Given the description of an element on the screen output the (x, y) to click on. 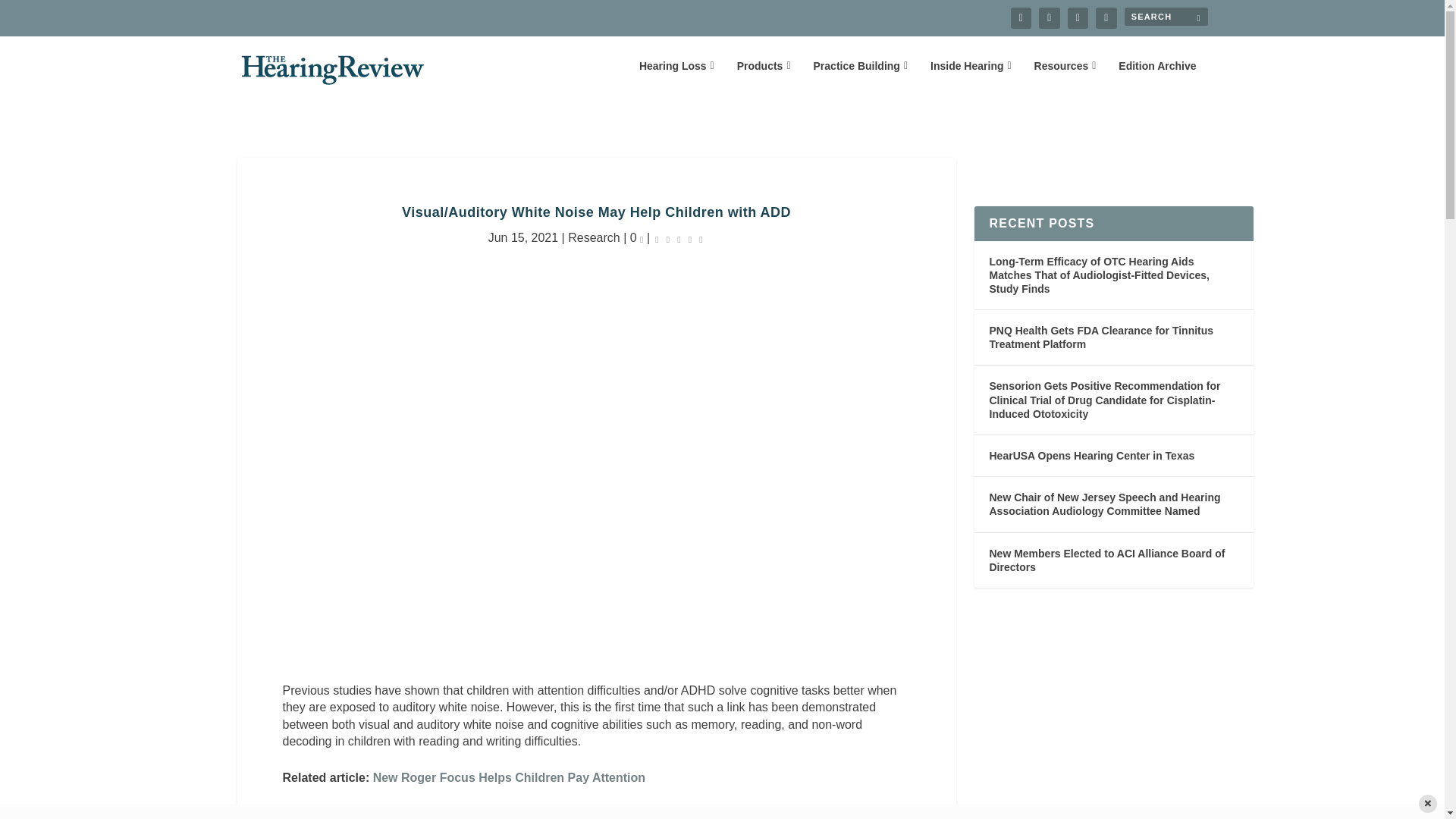
comment count (641, 239)
Hearing Loss (676, 77)
Inside Hearing (970, 77)
0 (636, 237)
Edition Archive (1156, 77)
Rating: 0.00 (678, 238)
New Roger Focus Helps Children Pay Attention (508, 777)
Research (593, 237)
Products (763, 77)
Practice Building (860, 77)
Resources (1064, 77)
Search for: (1165, 16)
